Given the description of an element on the screen output the (x, y) to click on. 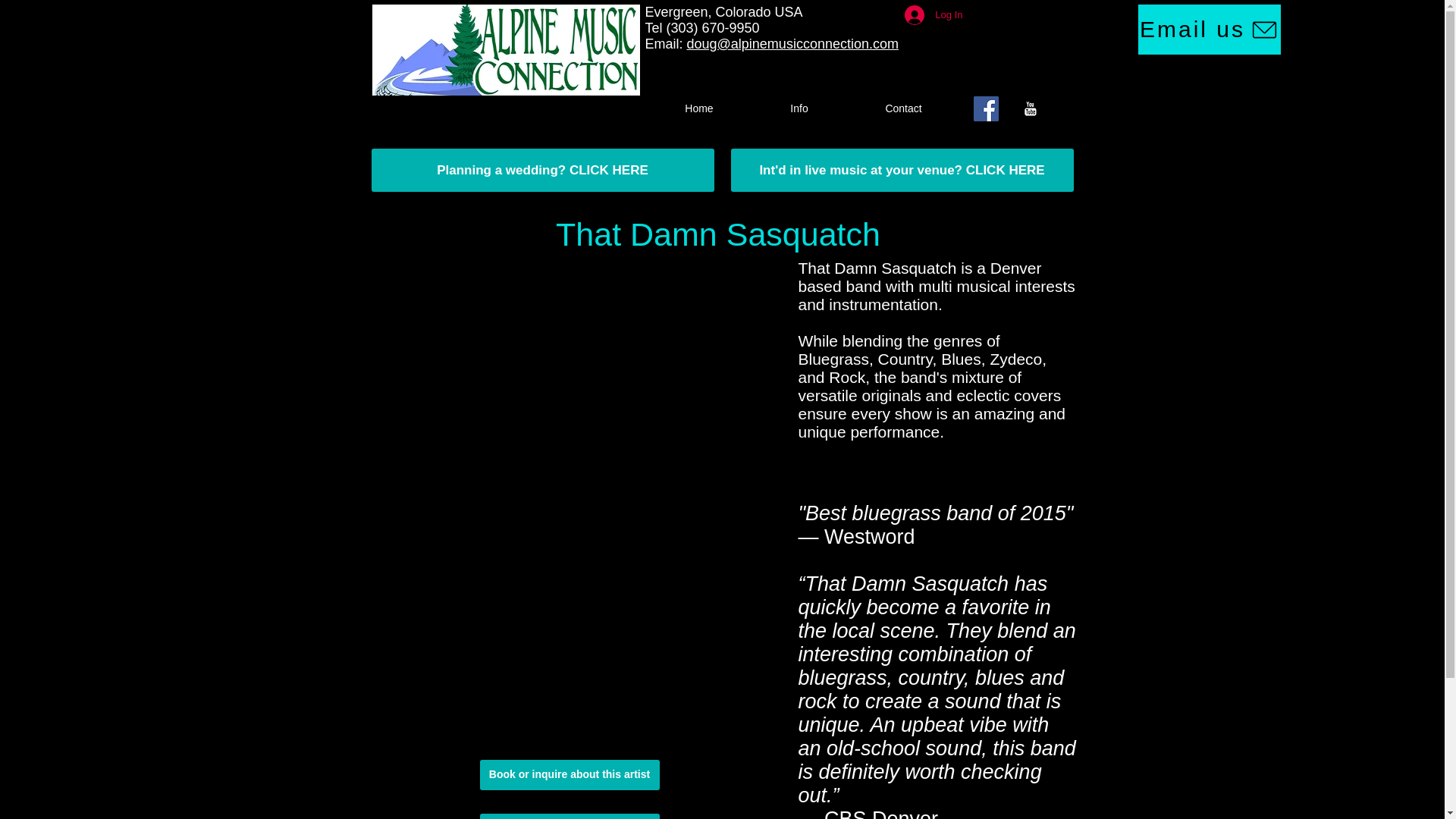
Images (569, 816)
Planning a wedding? CLICK HERE (542, 169)
Book or inquire about this artist (569, 775)
Info (799, 108)
External YouTube (573, 380)
Email us (1209, 29)
Int'd in live music at your venue? CLICK HERE (902, 169)
Log In (932, 14)
Home (698, 108)
Contact (902, 108)
